Given the description of an element on the screen output the (x, y) to click on. 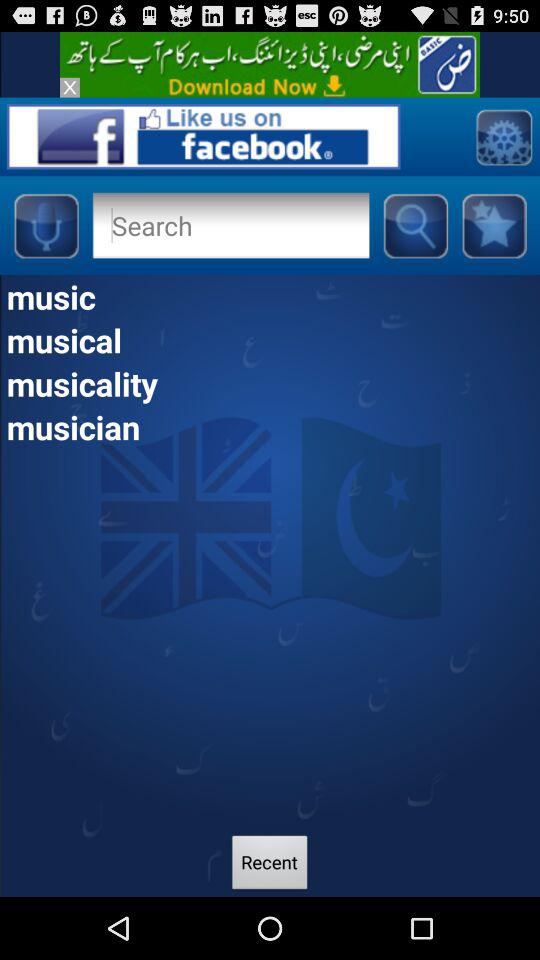
facebook page link (203, 136)
